Given the description of an element on the screen output the (x, y) to click on. 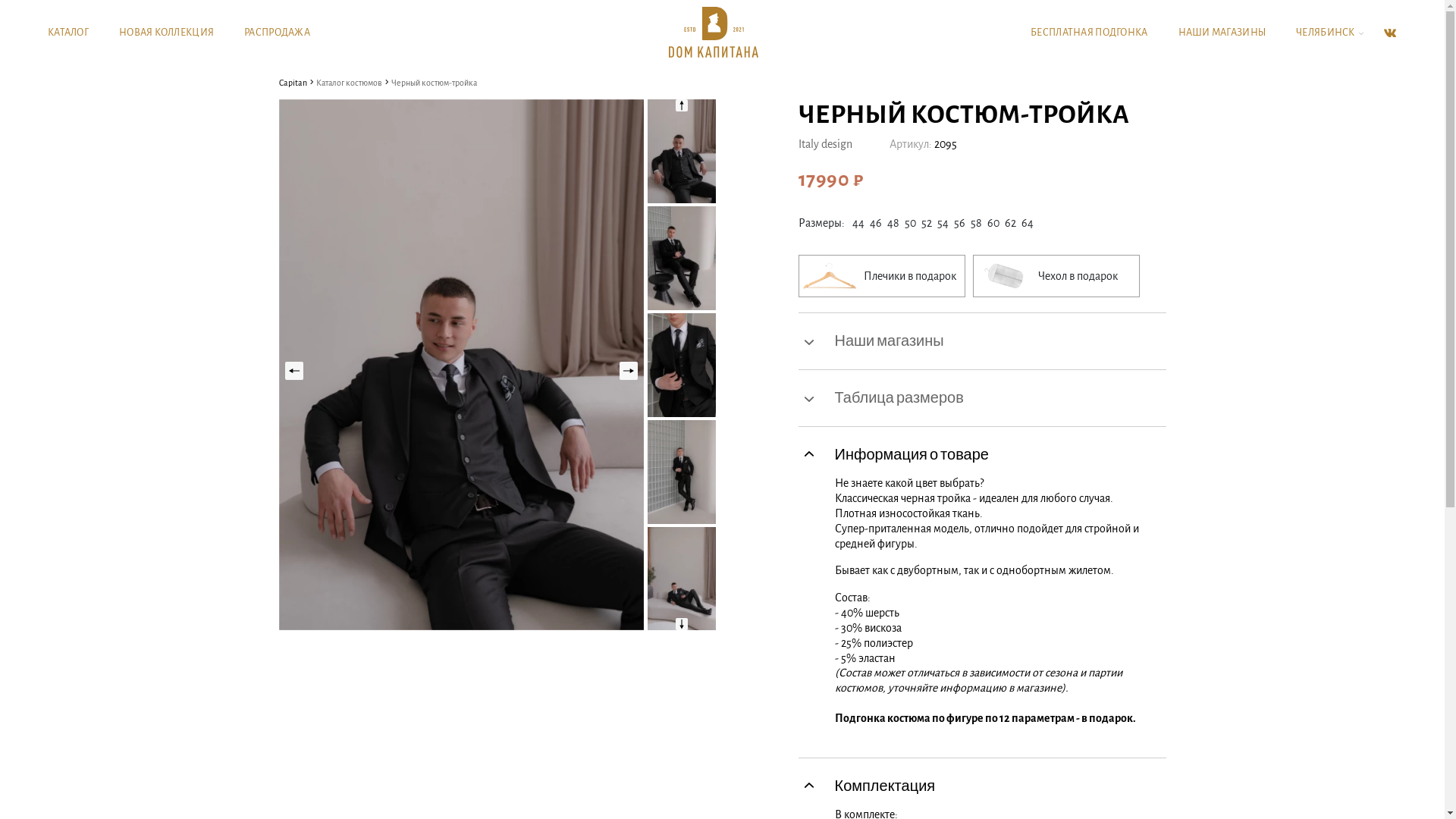
Capitan Element type: text (293, 82)
